Given the description of an element on the screen output the (x, y) to click on. 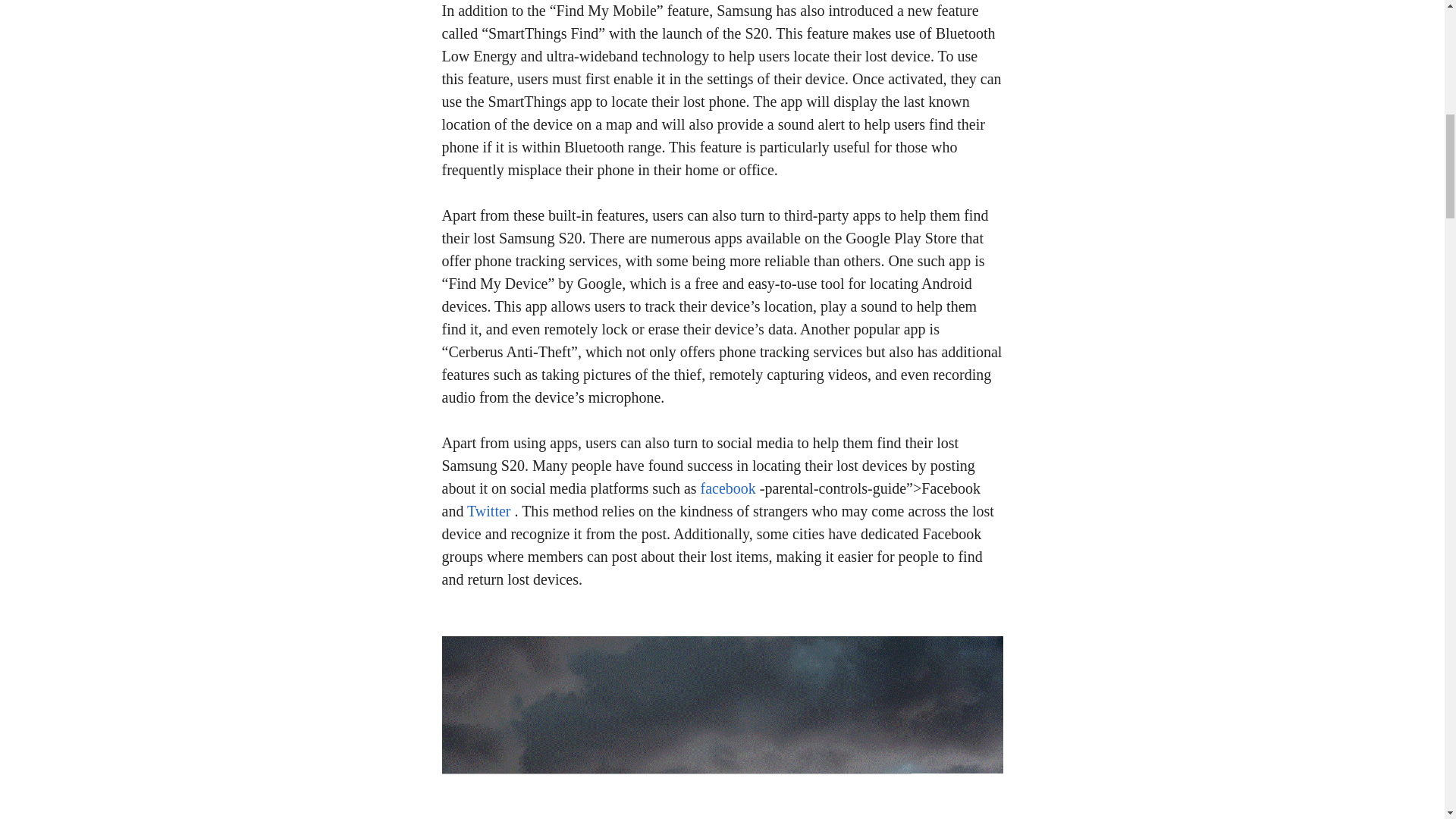
Clouds Sky (722, 727)
facebook (727, 487)
Twitter (489, 510)
